Given the description of an element on the screen output the (x, y) to click on. 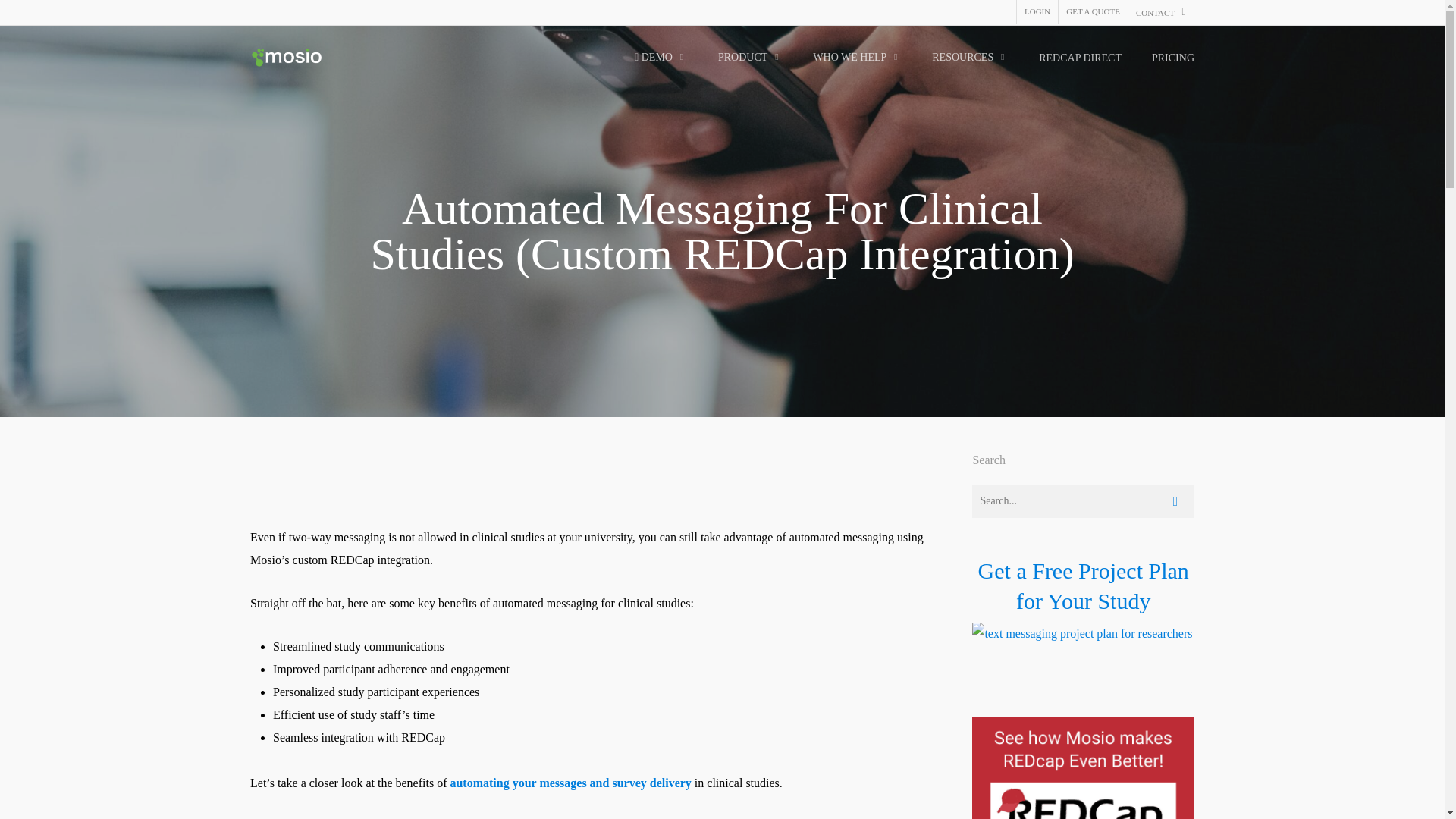
GET A QUOTE (1092, 11)
WHO WE HELP (856, 57)
PRODUCT (750, 57)
CONTACT (1159, 12)
LOGIN (1037, 11)
RESOURCES (970, 57)
WHO WE HELP (856, 57)
CONTACT US (1159, 12)
PRODUCT (750, 57)
LOGIN (1037, 11)
Instant Quote via Email (1092, 11)
